Given the description of an element on the screen output the (x, y) to click on. 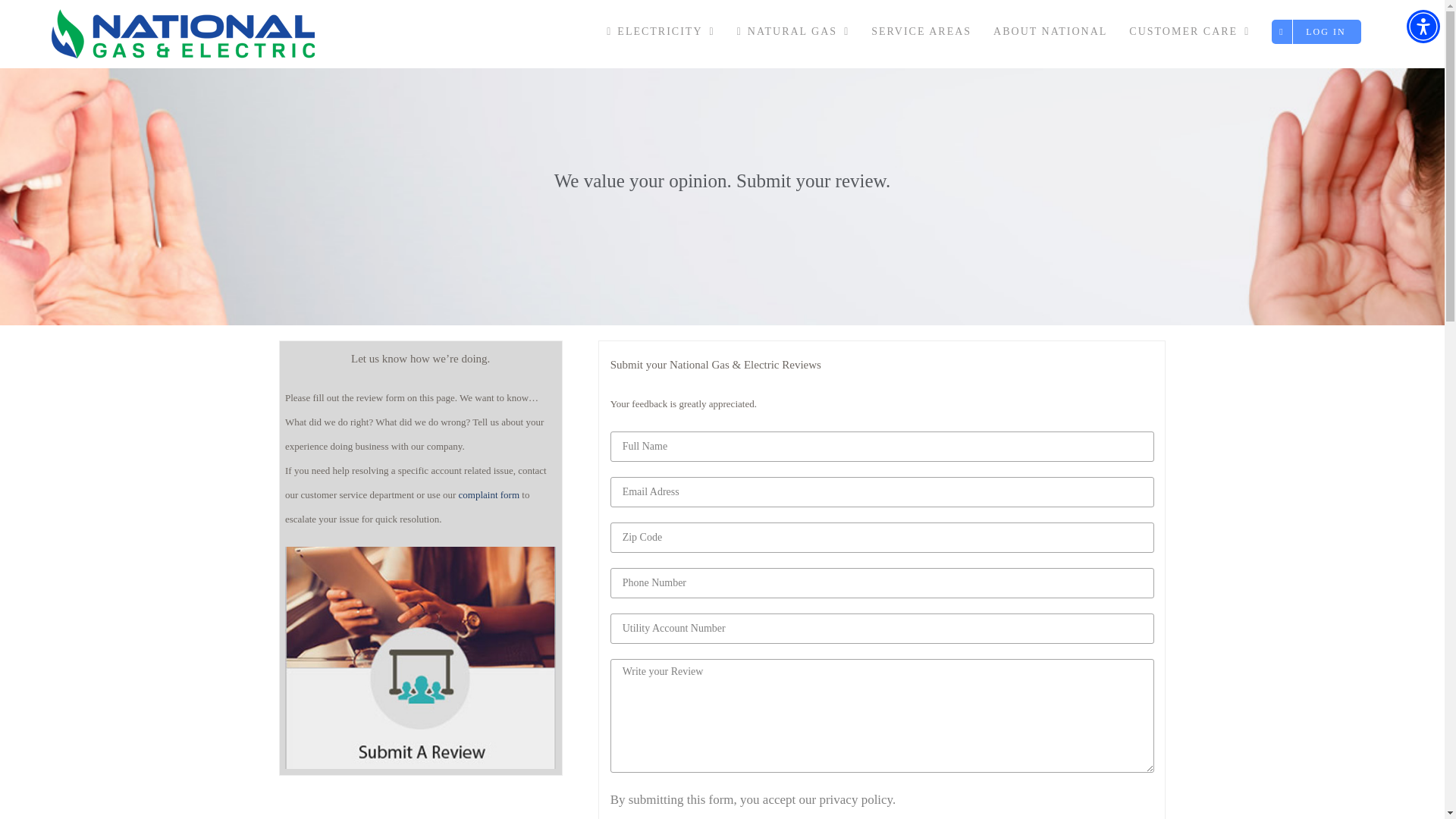
ABOUT NATIONAL (1050, 31)
complaint form (488, 494)
CUSTOMER CARE (1189, 31)
Accessibility Menu (1422, 26)
ELECTRICITY (660, 31)
SERVICE AREAS (921, 31)
Reviews (420, 658)
LOG IN (1315, 31)
NATURAL GAS (792, 31)
